Given the description of an element on the screen output the (x, y) to click on. 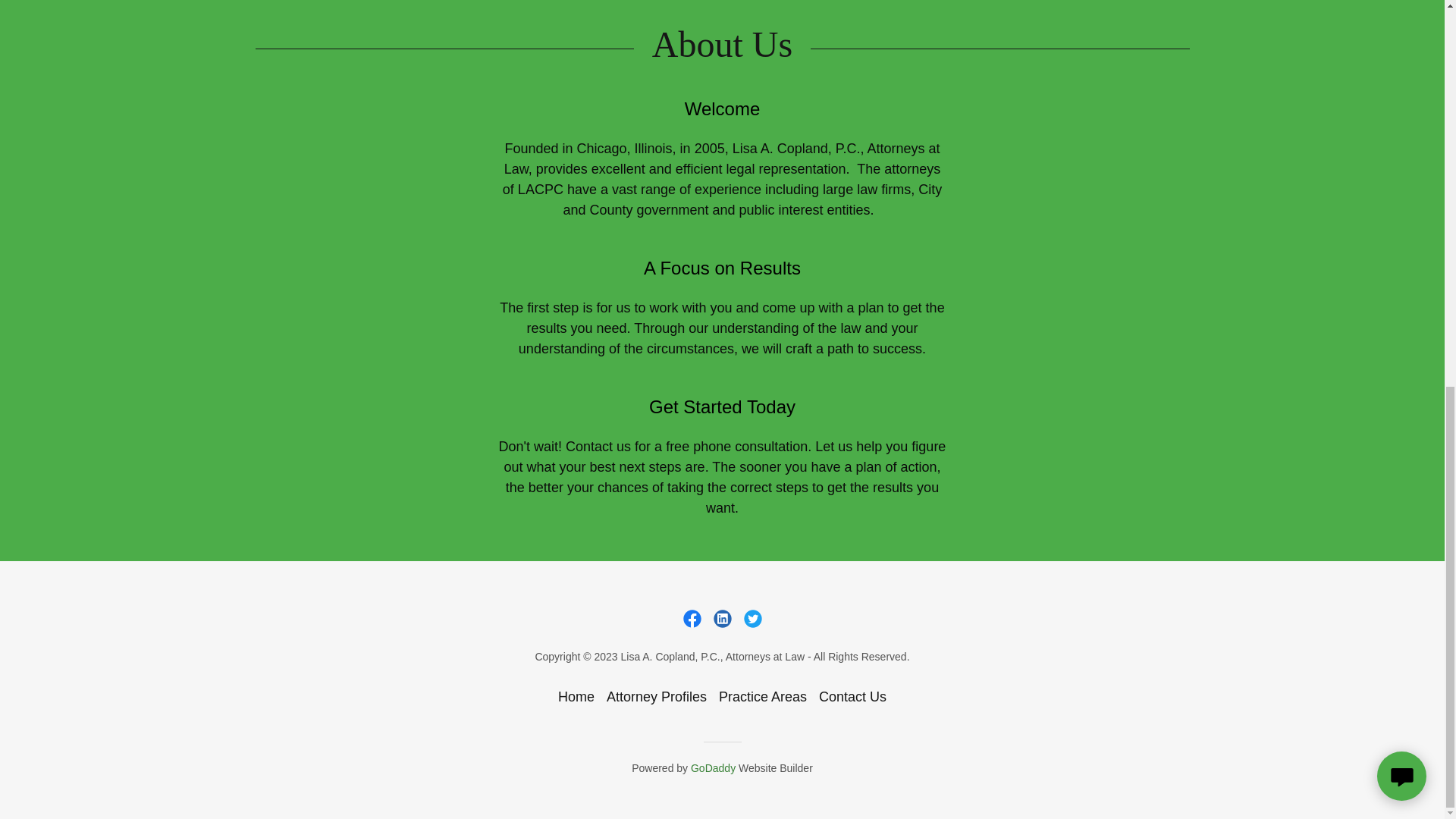
GoDaddy (712, 767)
Home (575, 697)
Attorney Profiles (656, 697)
Practice Areas (762, 697)
Contact Us (852, 697)
